Given the description of an element on the screen output the (x, y) to click on. 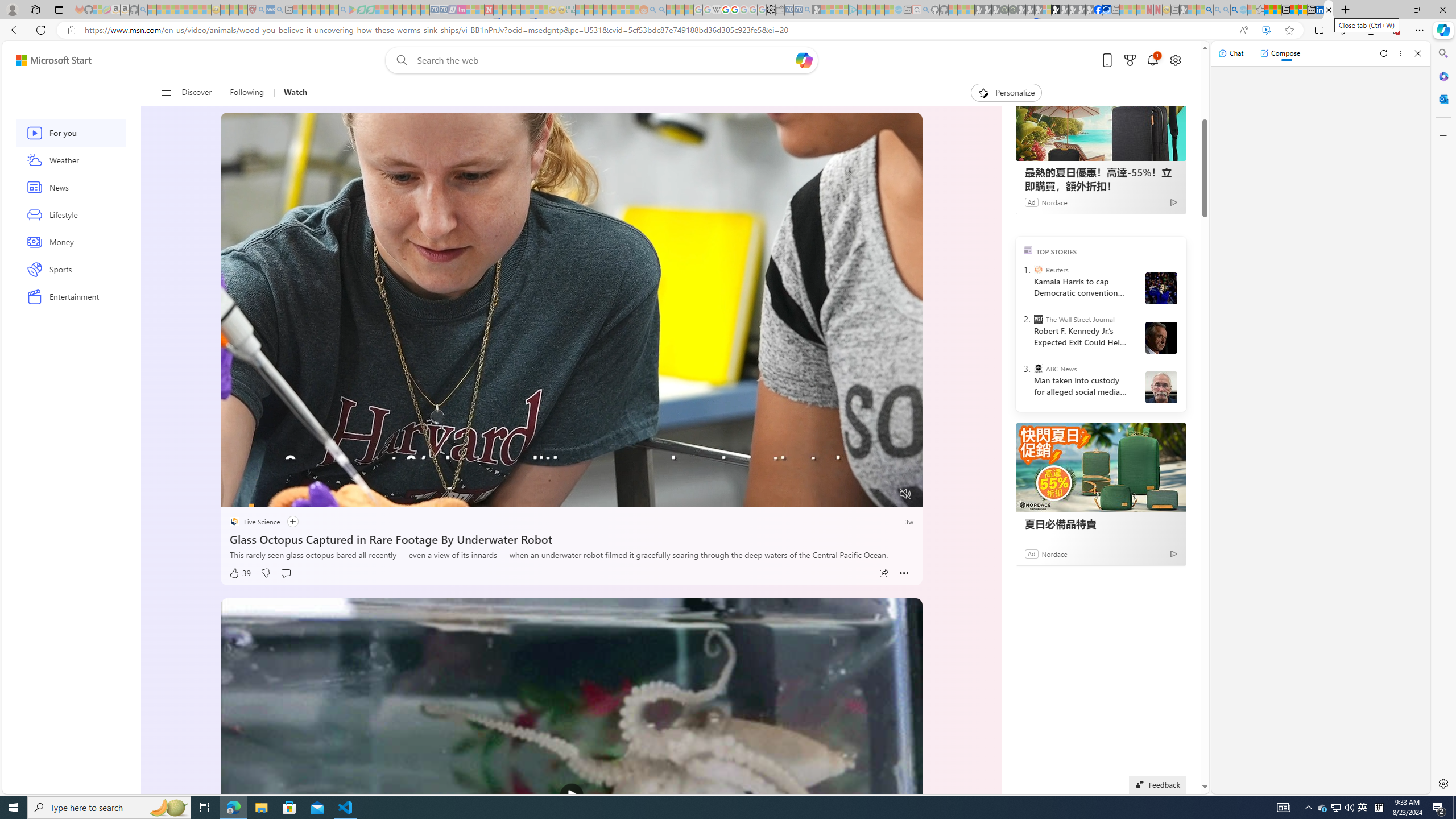
Seek Forward (283, 493)
Reuters (1037, 269)
Pause (236, 493)
Progress Bar (571, 479)
Seek Back (260, 493)
